Given the description of an element on the screen output the (x, y) to click on. 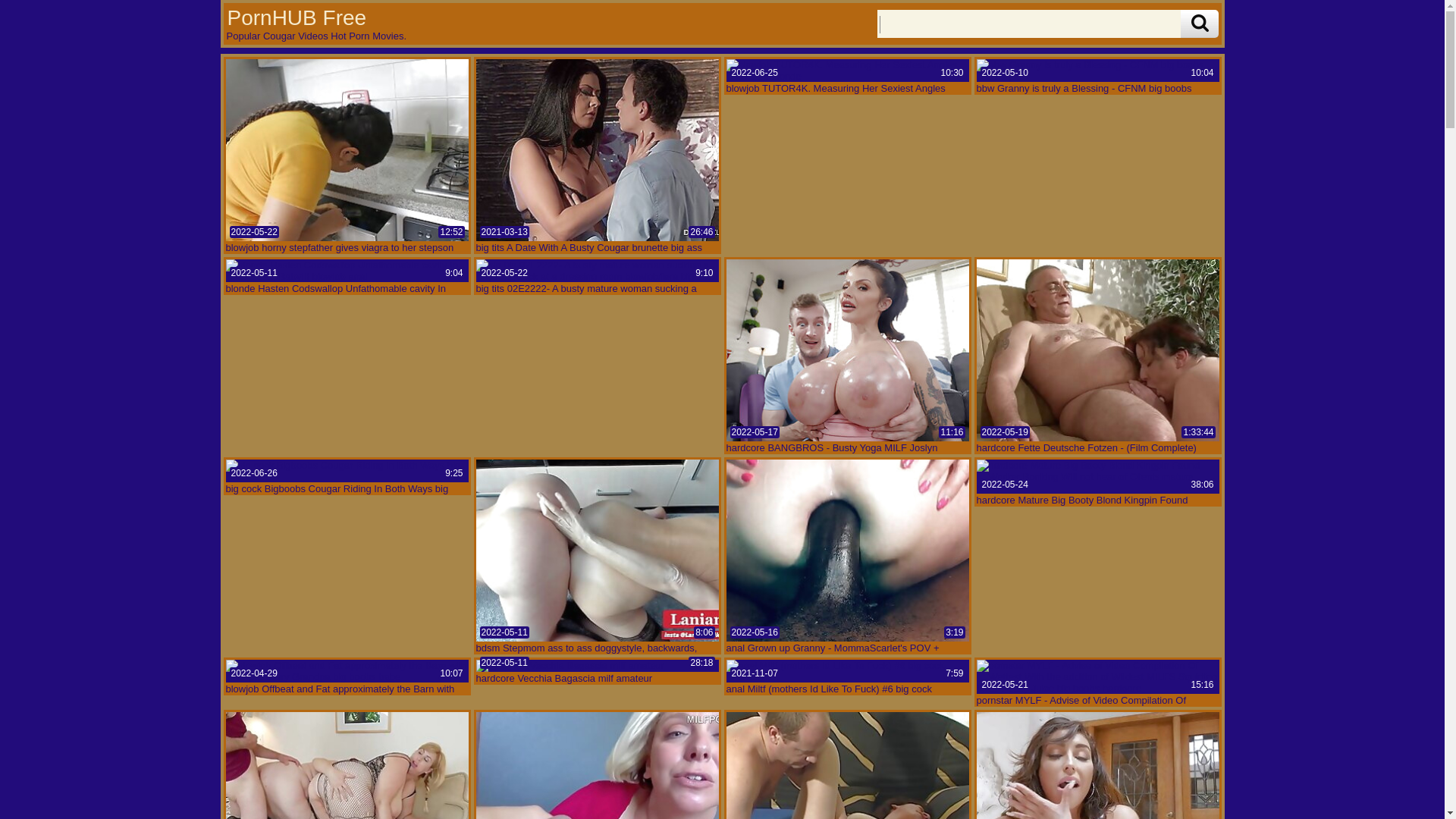
anal Miltf (mothers Id Like To Fuck) #6 big cock american Element type: text (847, 670)
hardcore Vecchia Bagascia milf amateur Element type: text (597, 665)
bbw Granny is truly a Blessing - CFNM big boobs blowjob Element type: text (1097, 70)
big cock Bigboobs Cougar Riding In Both Ways big tits anal Element type: text (346, 470)
big tits A Date With A Busty Cougar brunette big ass Element type: text (597, 150)
PornHUB Free Element type: text (295, 17)
blowjob TUTOR4K. Measuring Her Sexiest Angles mature blonde Element type: text (847, 70)
